Given the description of an element on the screen output the (x, y) to click on. 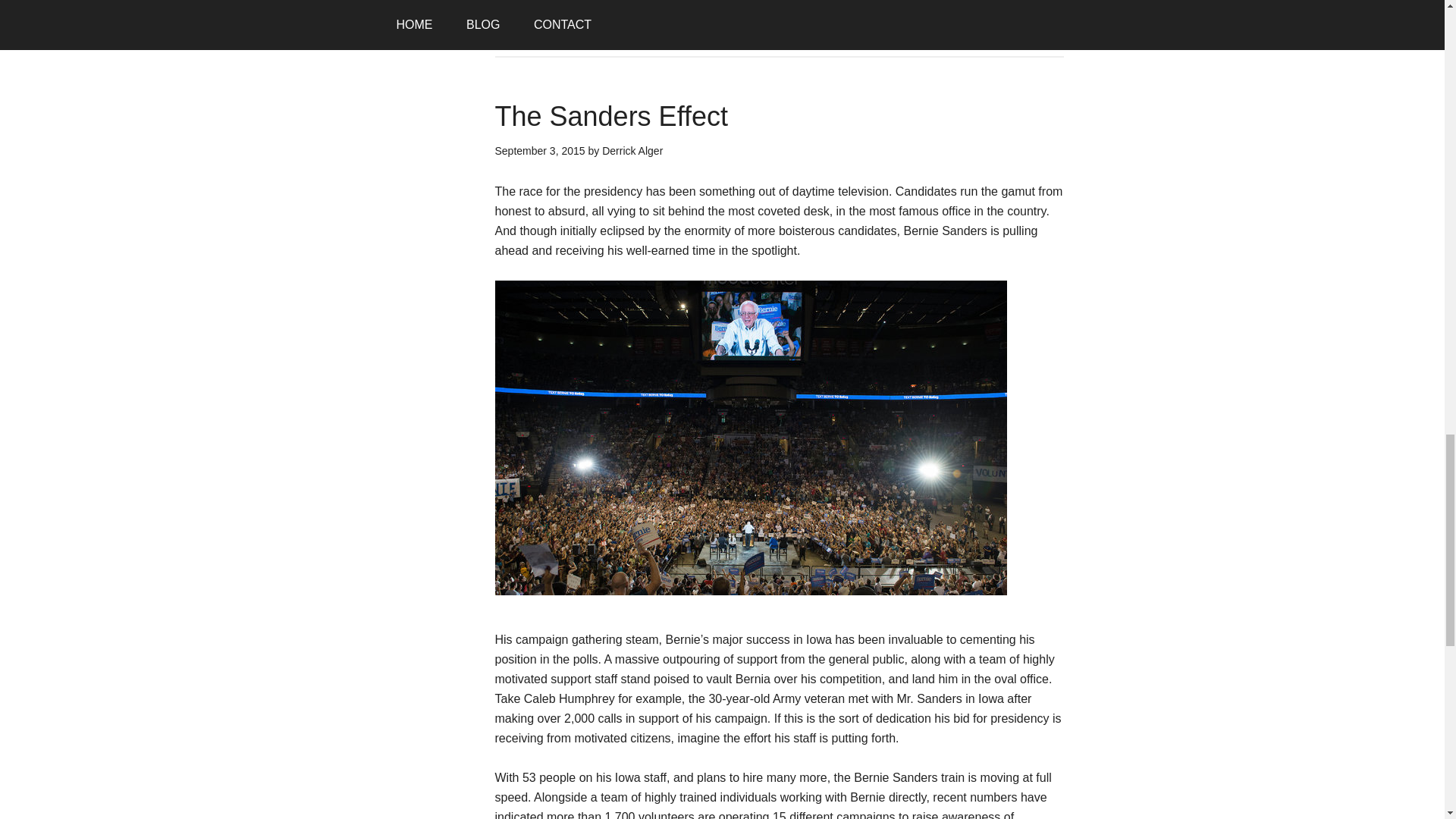
this page (542, 25)
The Sanders Effect (611, 115)
Derrick Alger (632, 150)
